Given the description of an element on the screen output the (x, y) to click on. 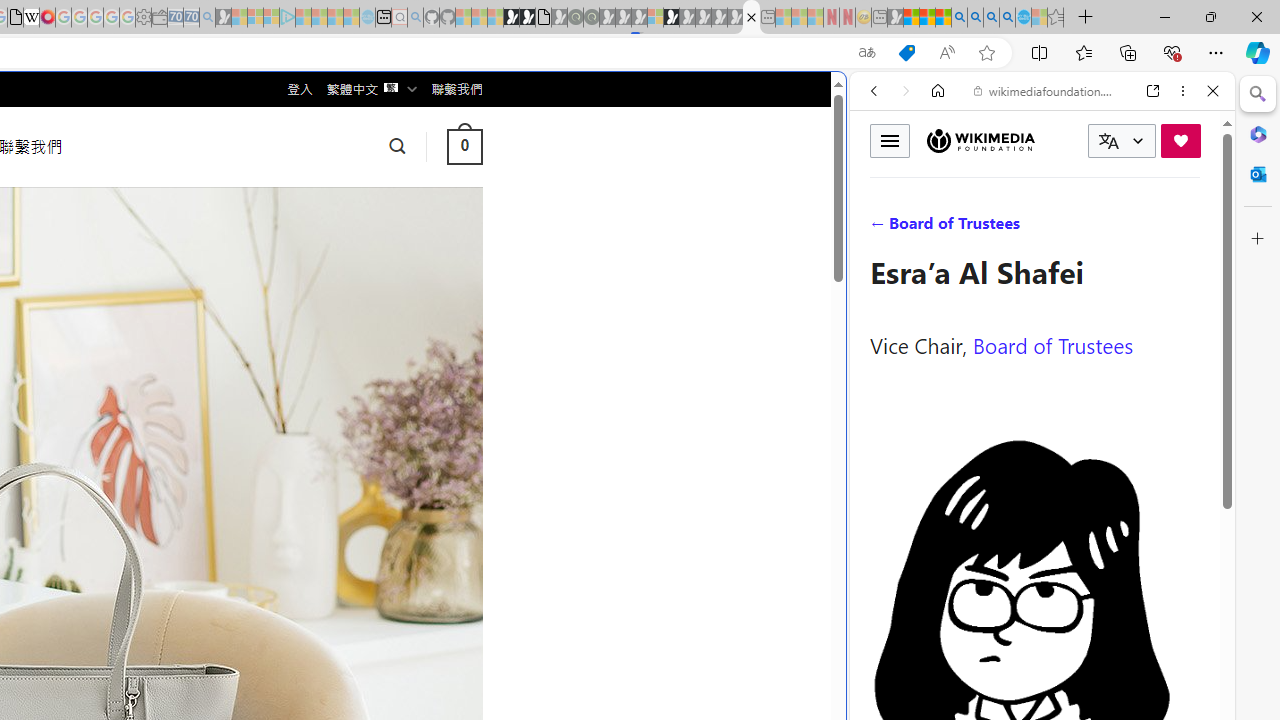
MediaWiki (47, 17)
Donate now (1180, 140)
Wiktionary (1034, 669)
Target page - Wikipedia (31, 17)
Wikimedia Foundation (980, 141)
